Given the description of an element on the screen output the (x, y) to click on. 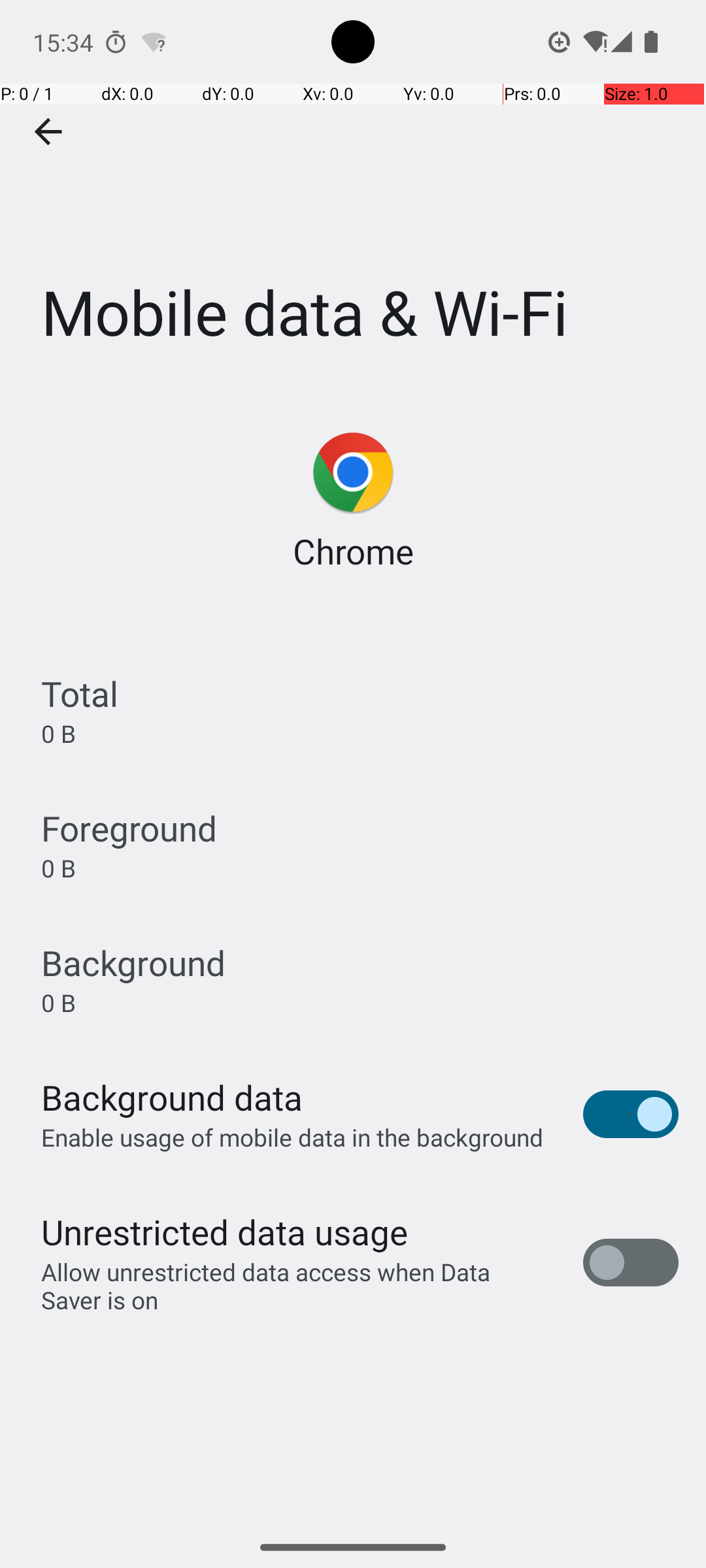
Foreground Element type: android.widget.TextView (129, 827)
Background Element type: android.widget.TextView (133, 962)
Background data Element type: android.widget.TextView (171, 1097)
Enable usage of mobile data in the background Element type: android.widget.TextView (292, 1136)
Unrestricted data usage Element type: android.widget.TextView (224, 1231)
Allow unrestricted data access when Data Saver is on Element type: android.widget.TextView (298, 1285)
